Given the description of an element on the screen output the (x, y) to click on. 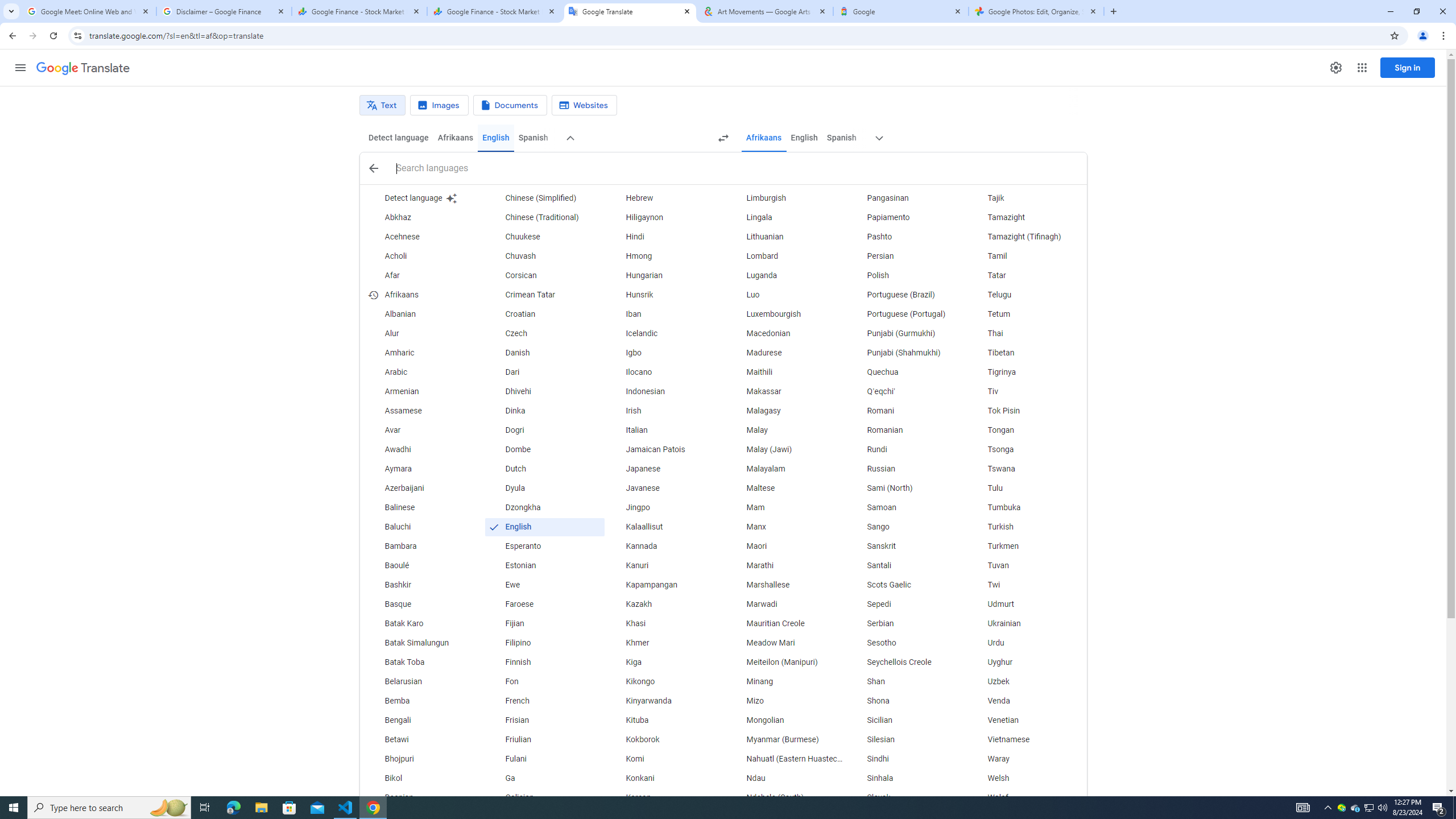
Marathi (785, 565)
Dari (544, 372)
Google Translate (630, 11)
Japanese (665, 469)
Arabic (423, 372)
Chuvash (544, 256)
Search languages (736, 168)
Assamese (423, 411)
Minang (785, 682)
Kapampangan (665, 584)
Mam (785, 507)
